Given the description of an element on the screen output the (x, y) to click on. 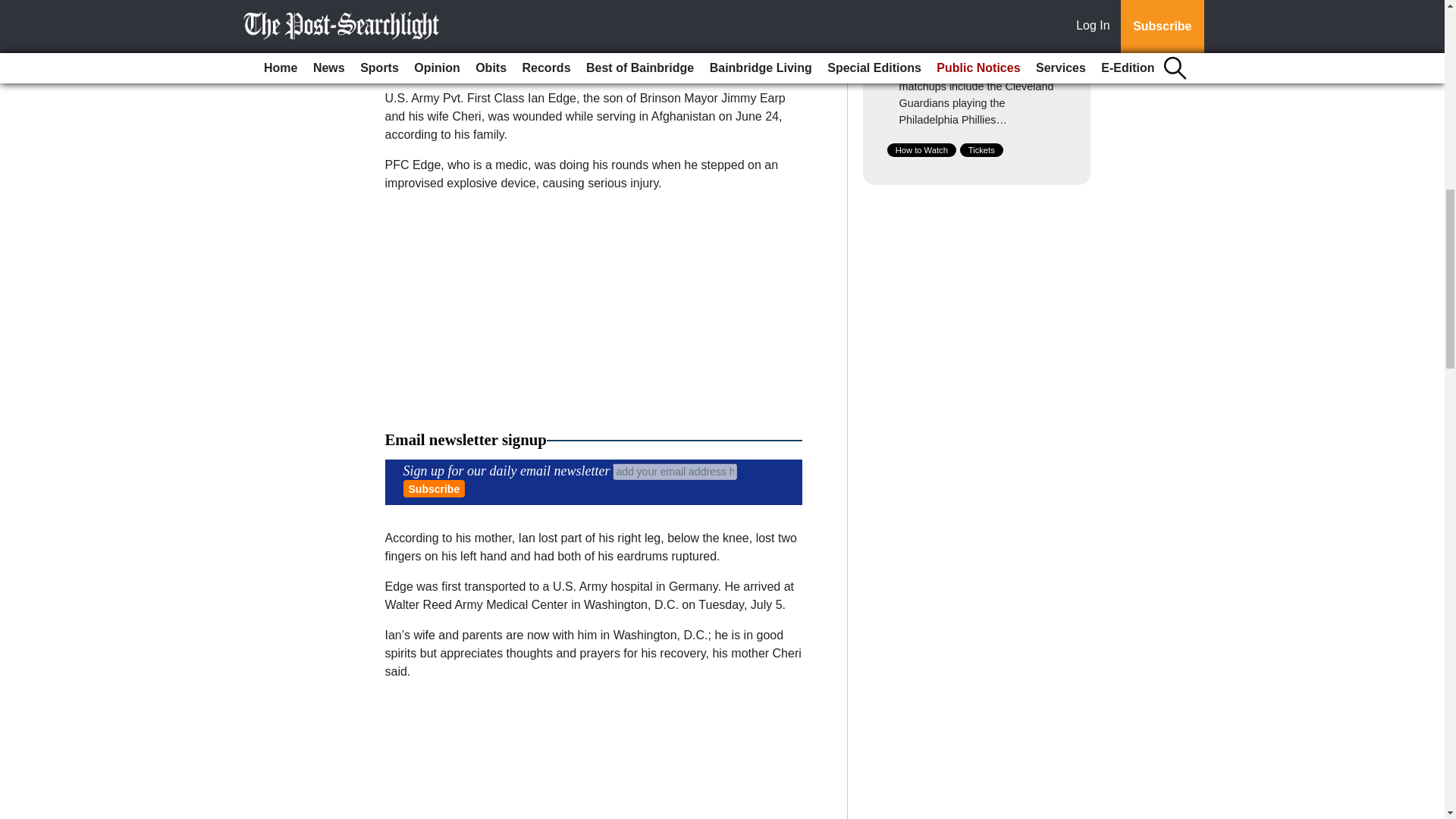
Subscribe (434, 488)
Subscribe (434, 488)
